Given the description of an element on the screen output the (x, y) to click on. 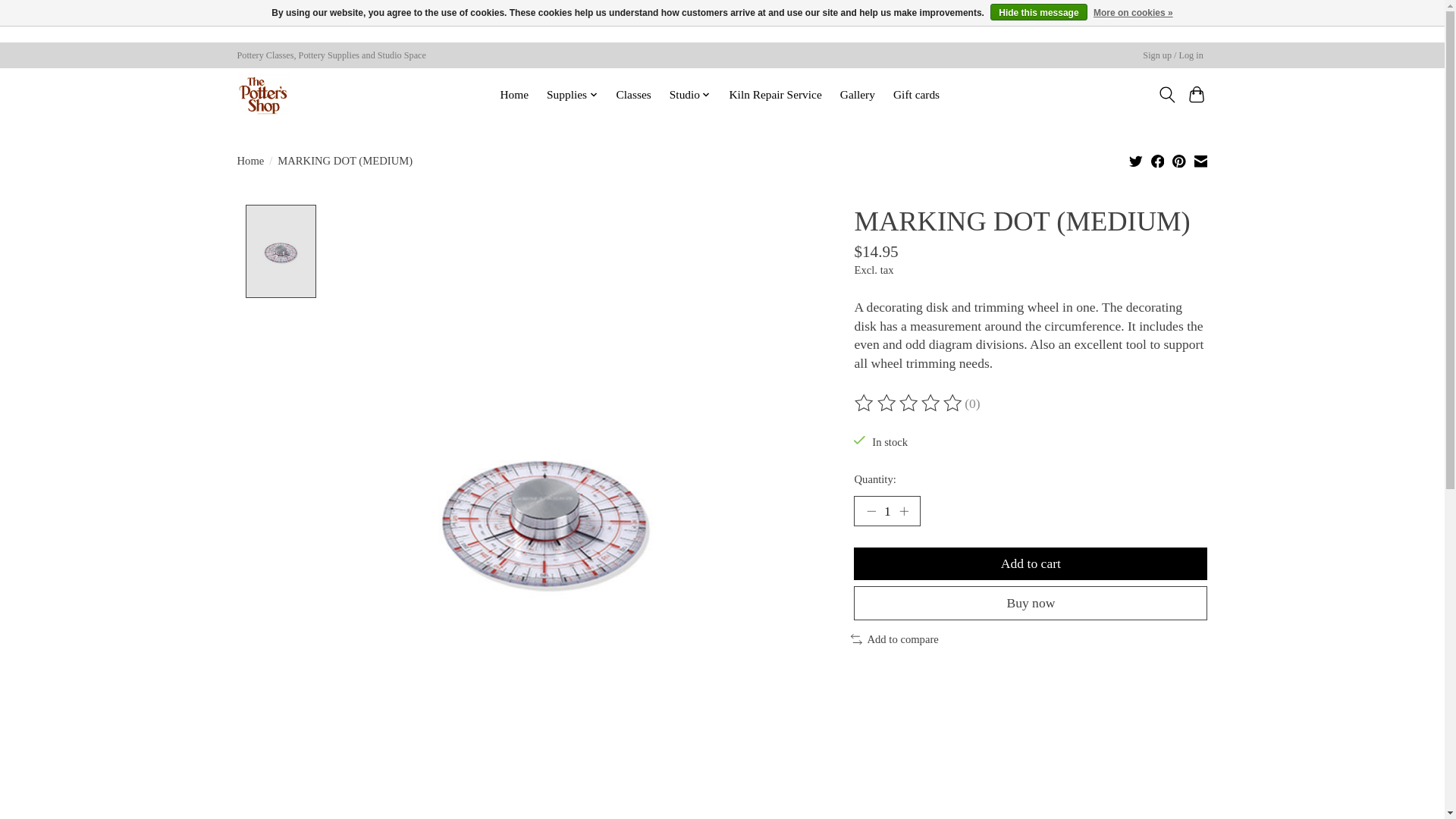
Supplies (572, 94)
1 (886, 511)
Hide this message (1038, 12)
Home (514, 94)
My account (1173, 55)
